Given the description of an element on the screen output the (x, y) to click on. 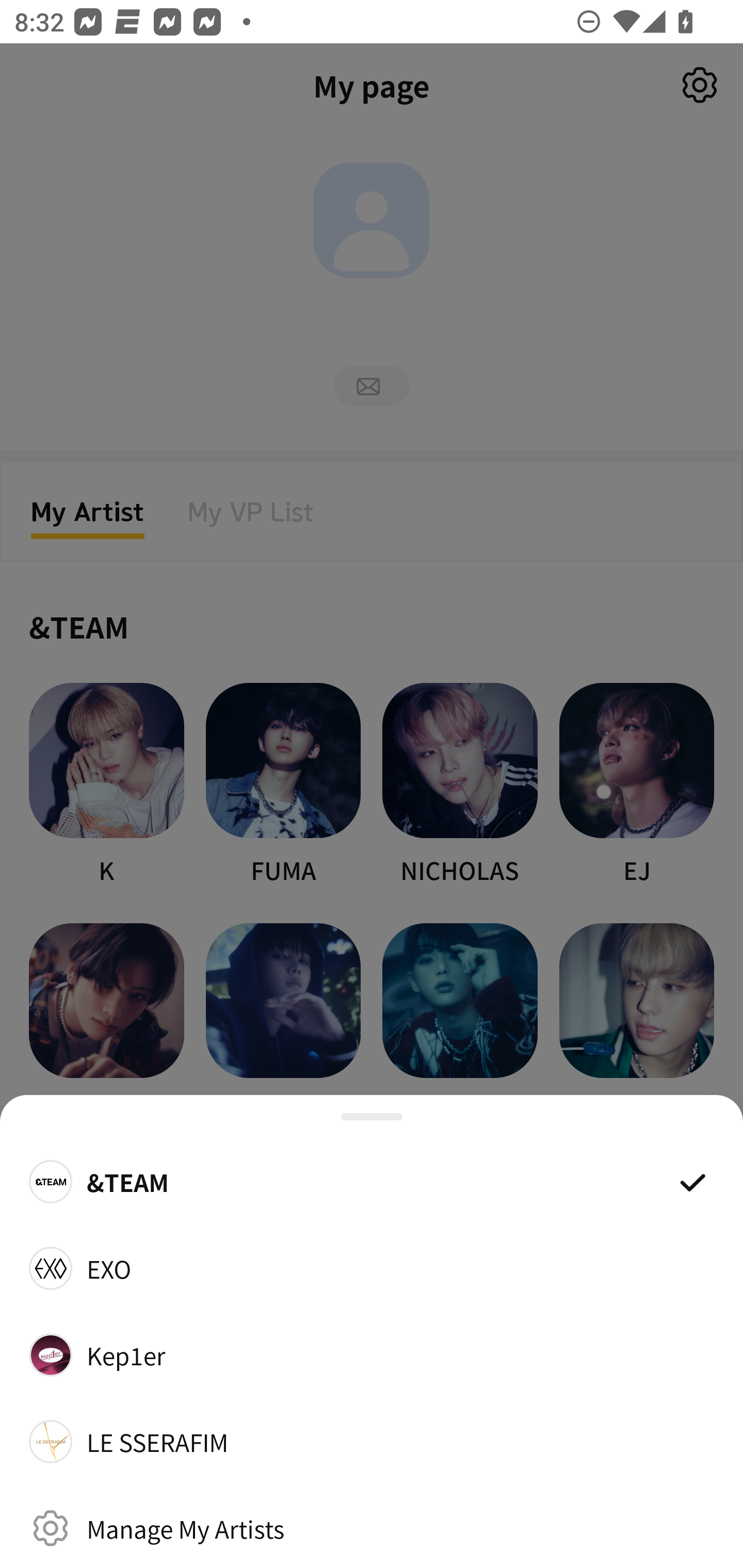
&TEAM (371, 1181)
EXO (371, 1268)
Kep1er (371, 1354)
LE SSERAFIM (371, 1441)
Manage My Artists (371, 1527)
